Given the description of an element on the screen output the (x, y) to click on. 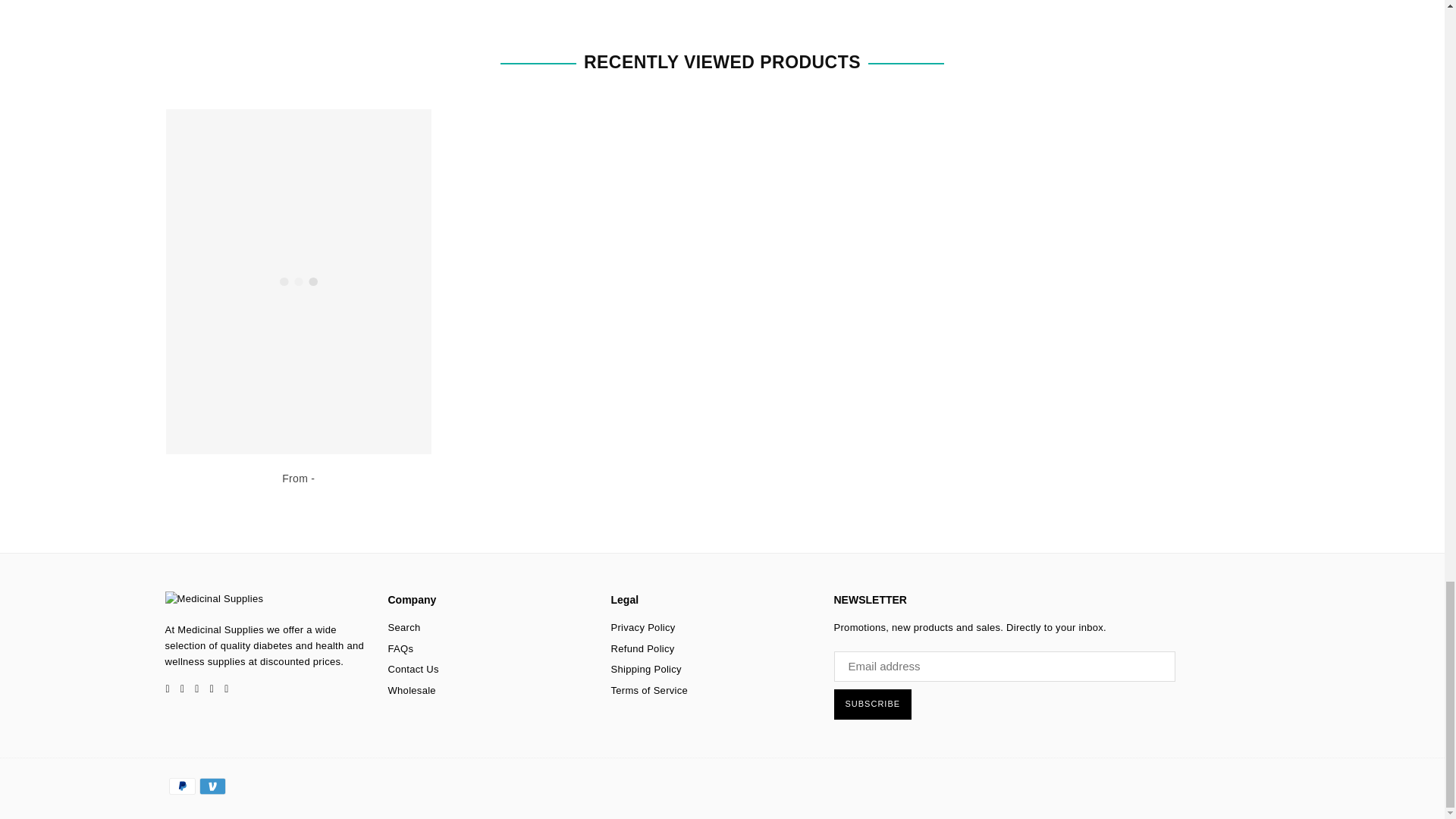
Venmo (211, 785)
PayPal (181, 785)
